Given the description of an element on the screen output the (x, y) to click on. 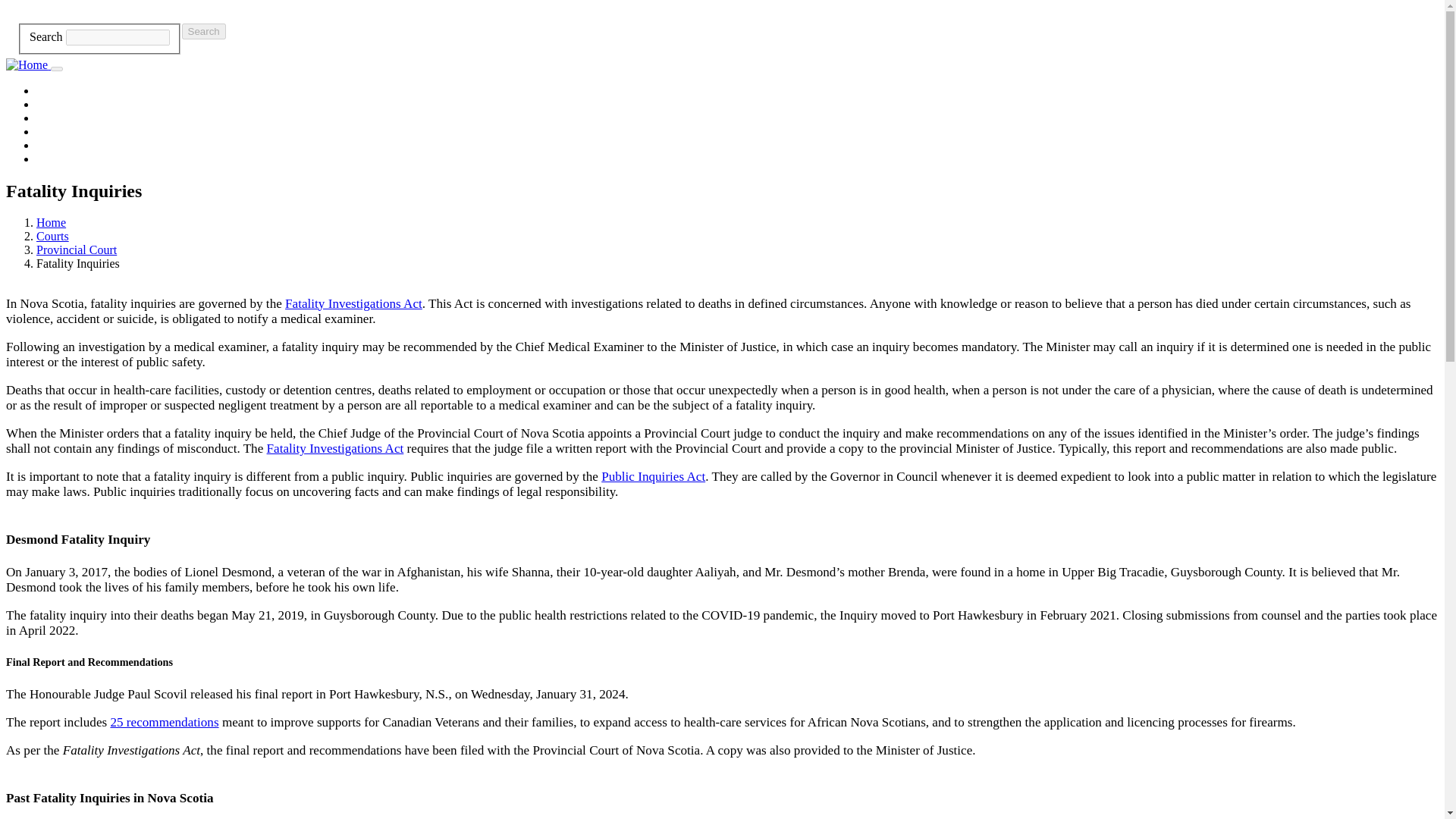
25 recommendations (164, 721)
Enter the terms you wish to search for. (117, 37)
Home (27, 64)
Operations (62, 117)
Courts (52, 236)
Skip to main content (722, 7)
Provincial Court (76, 249)
Education (60, 144)
Locations (60, 158)
Courts (52, 103)
